Given the description of an element on the screen output the (x, y) to click on. 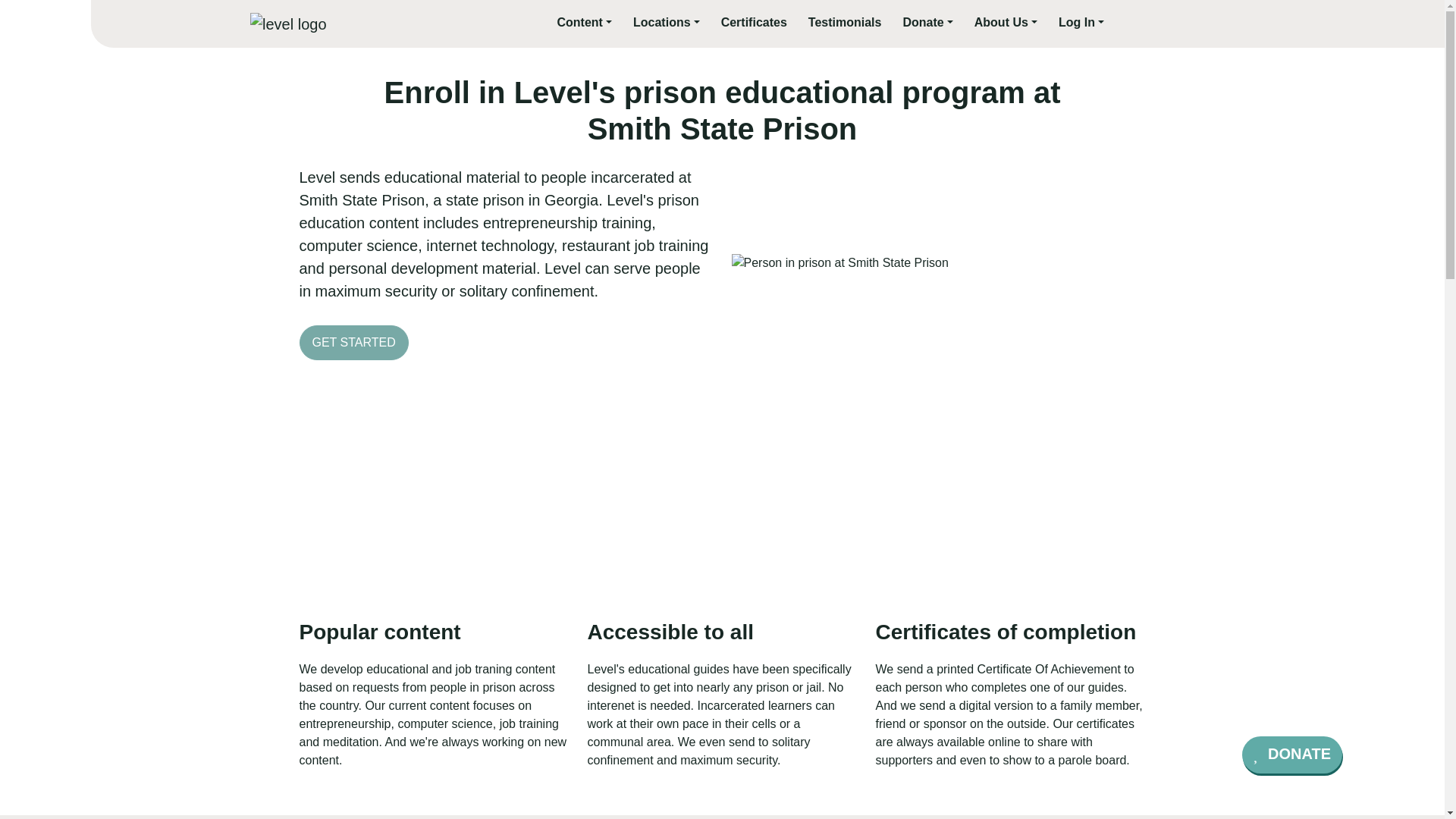
Certificates (753, 23)
Locations (666, 23)
Log In (1080, 23)
Donate (927, 23)
Donate (927, 23)
Locations (666, 23)
Testimonials (845, 23)
Content (583, 23)
Certificates (753, 23)
Content (583, 23)
